Given the description of an element on the screen output the (x, y) to click on. 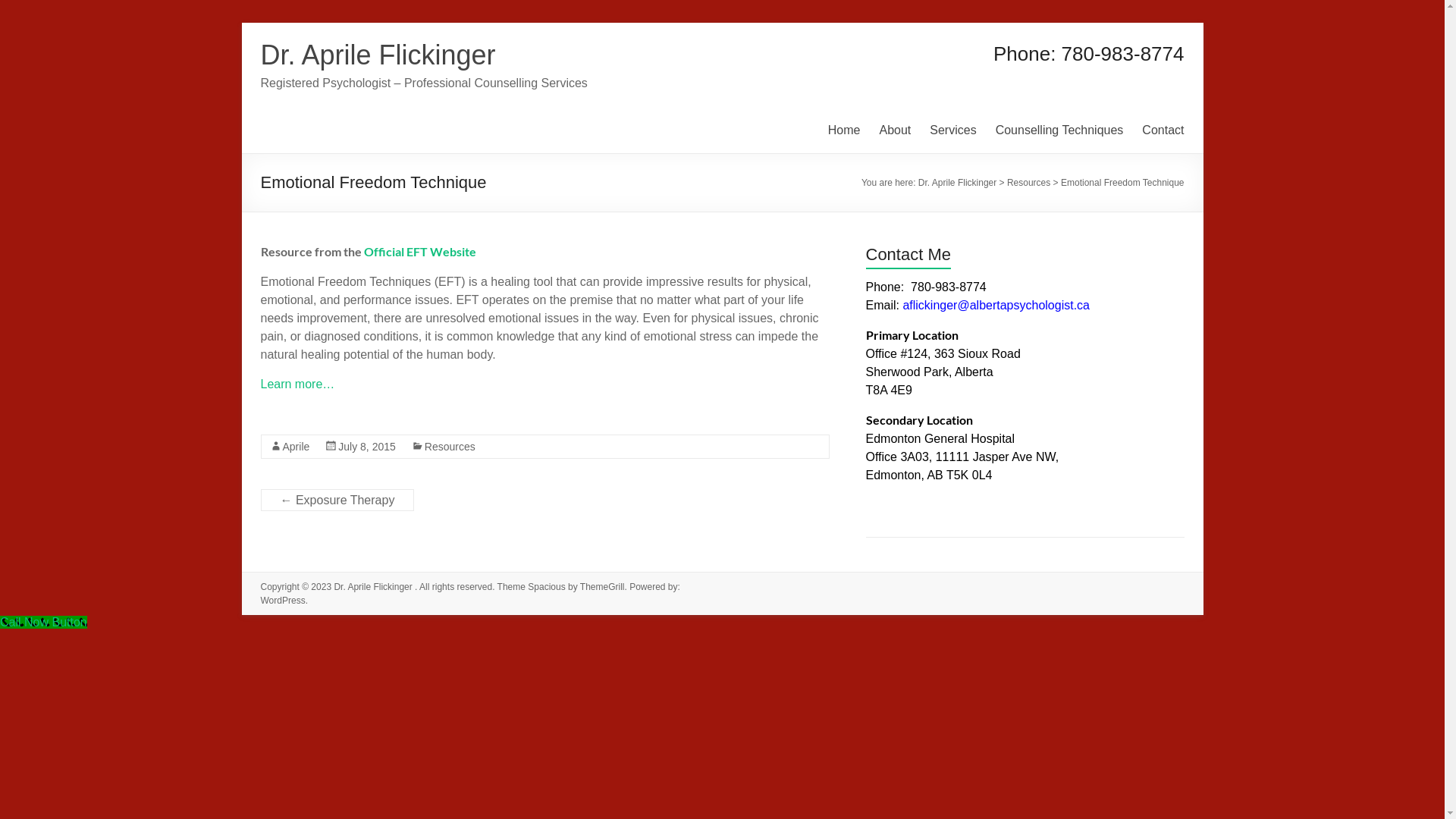
About Element type: text (894, 130)
Home Element type: text (844, 130)
Aprile Element type: text (295, 446)
Official EFT Website Element type: text (420, 251)
Resources Element type: text (1028, 182)
Dr. Aprile Flickinger Element type: text (373, 586)
July 8, 2015 Element type: text (366, 446)
Counselling Techniques Element type: text (1059, 130)
Contact Element type: text (1162, 130)
Dr. Aprile Flickinger Element type: text (958, 182)
Spacious Element type: text (545, 586)
Call Now Button Element type: text (43, 621)
Services Element type: text (952, 130)
Skip to content Element type: text (241, 21)
Resources Element type: text (449, 446)
WordPress Element type: text (282, 600)
Dr. Aprile Flickinger Element type: text (377, 54)
aflickinger@albertapsychologist.ca Element type: text (995, 304)
